Given the description of an element on the screen output the (x, y) to click on. 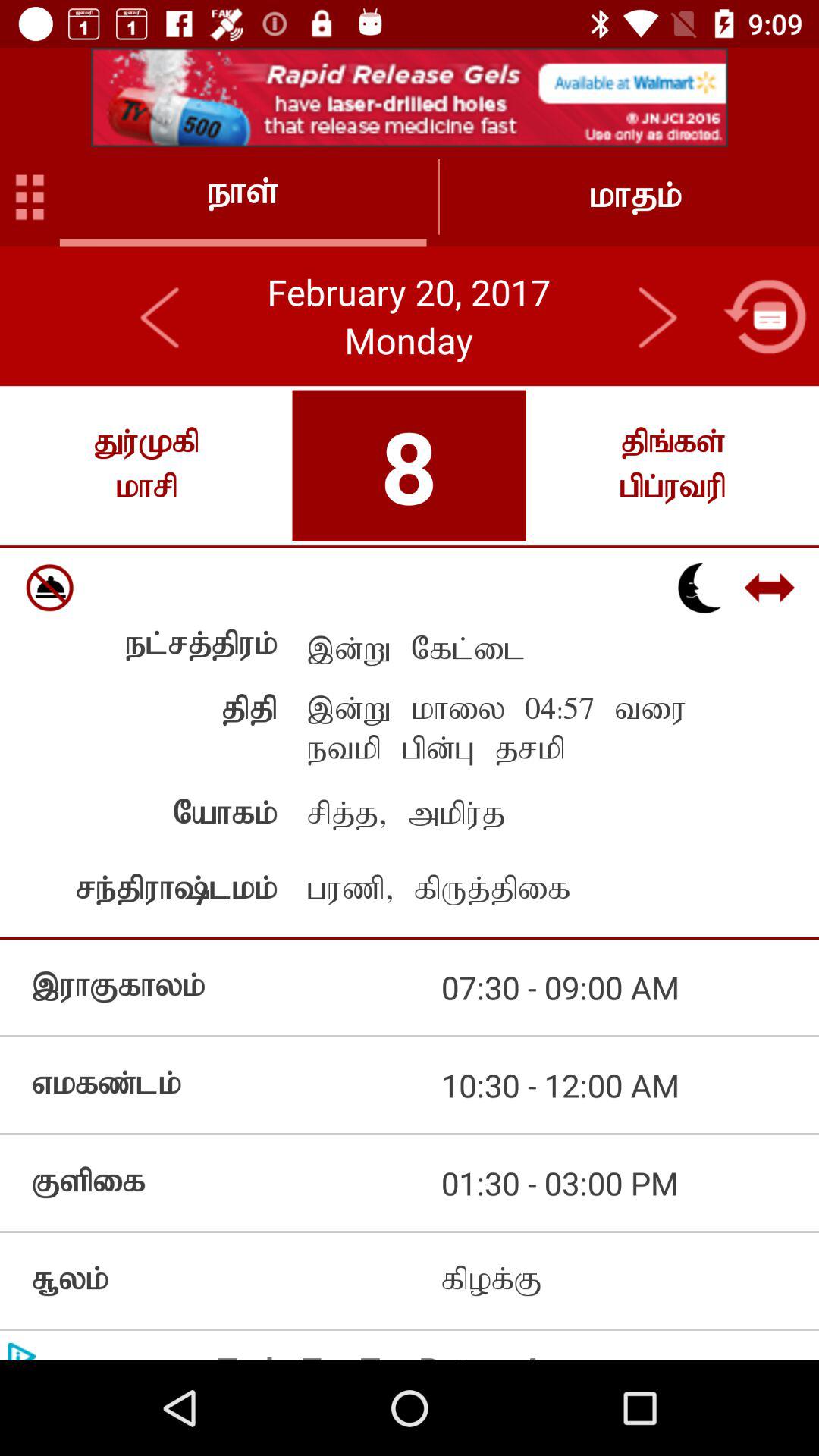
open calendar (764, 316)
